Given the description of an element on the screen output the (x, y) to click on. 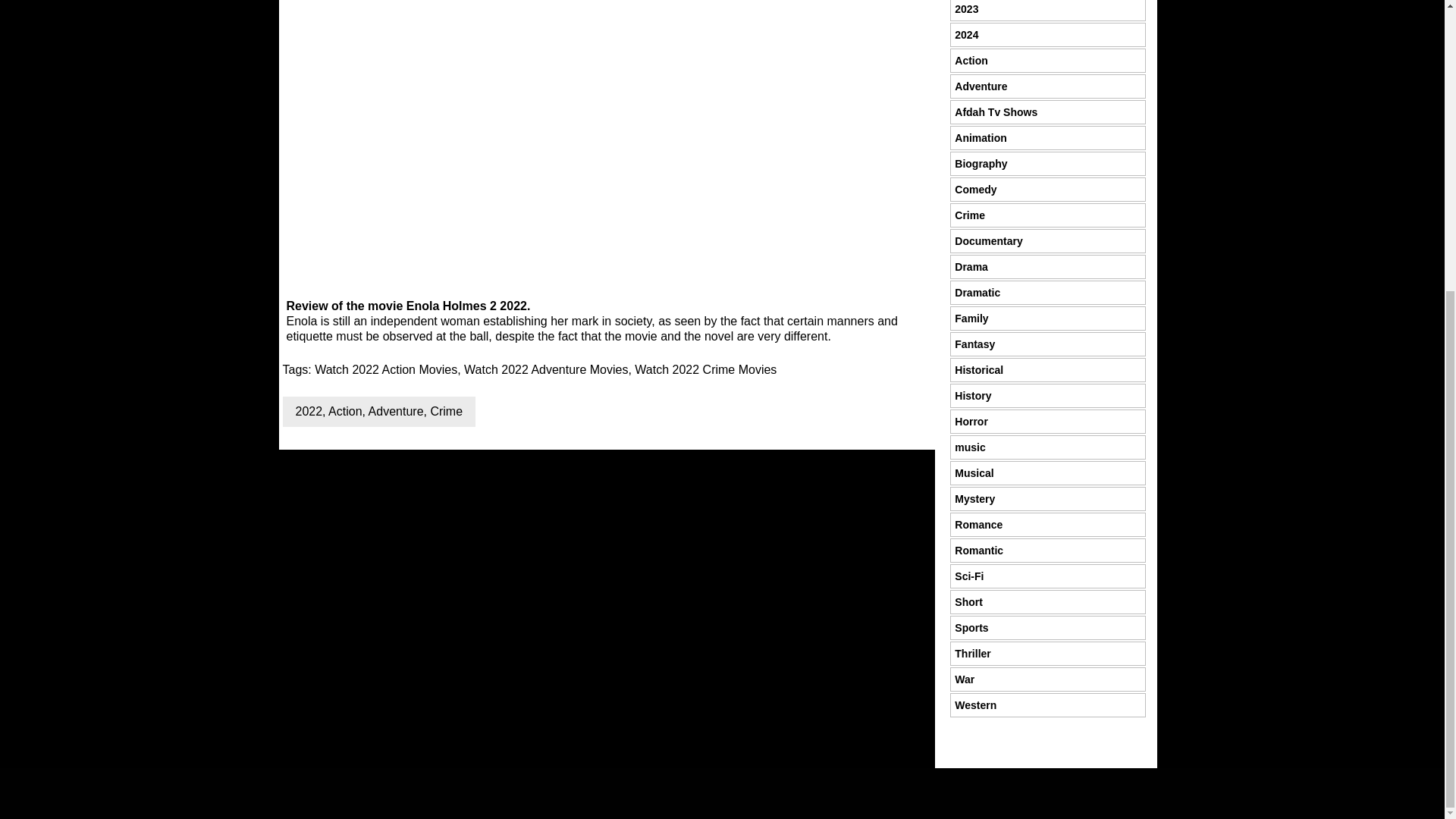
Adventure (981, 86)
Action (345, 410)
Watch 2022 Adventure Movies (545, 369)
Crime (970, 215)
Action (971, 60)
Afdah Tv Shows (995, 111)
Watch 2022 Action Movies (385, 369)
Crime (446, 410)
Documentary (988, 241)
Drama (971, 266)
2024 (966, 34)
Adventure (395, 410)
Biography (981, 163)
2022 (309, 410)
Animation (980, 137)
